Given the description of an element on the screen output the (x, y) to click on. 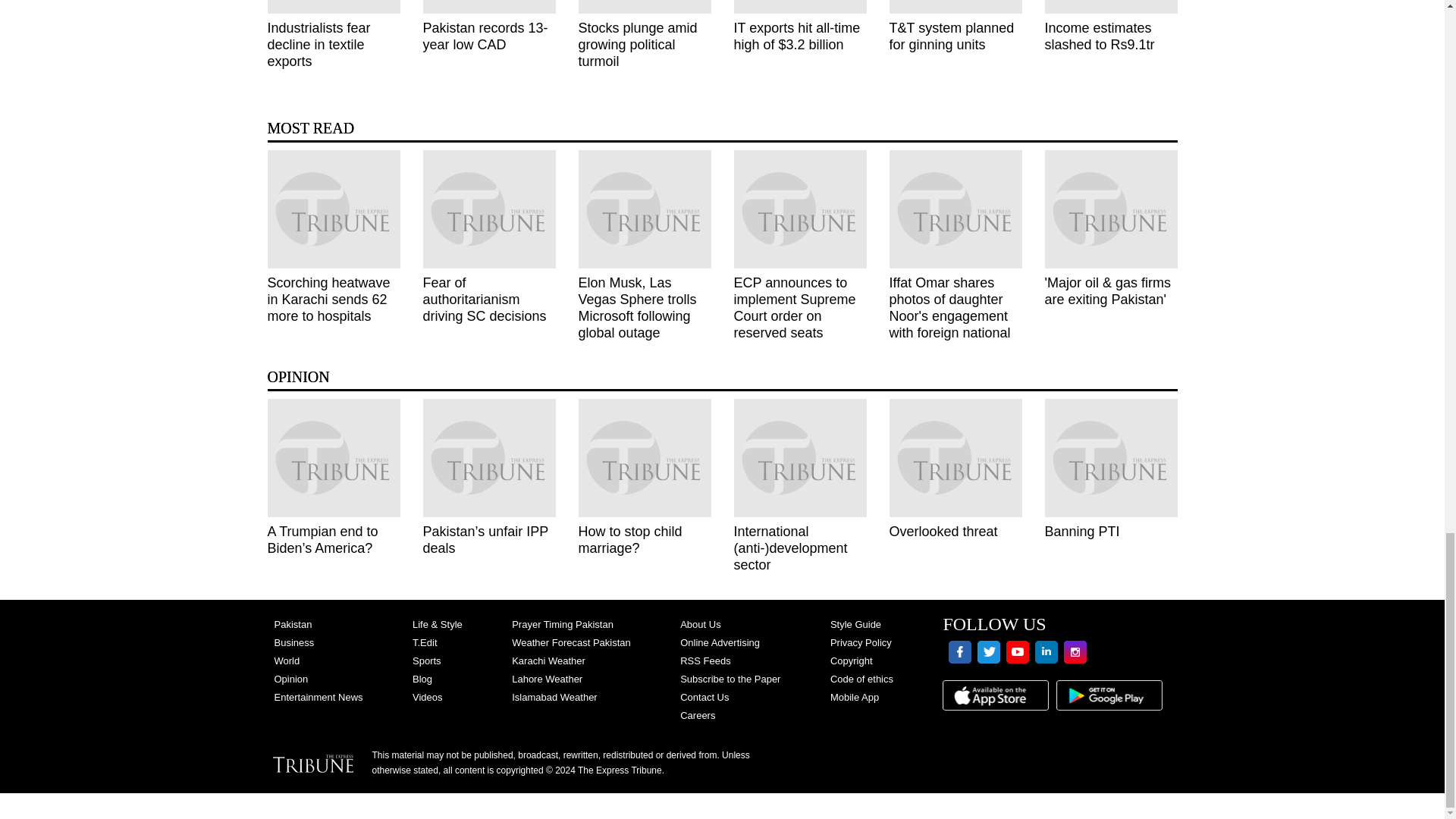
overlooked threat (955, 457)
it exports hit all time high of 3 2 billion (799, 6)
a trumpian end to biden s america (332, 457)
banning pti (1111, 457)
industrialists fear decline in textile exports (332, 6)
international anti  development sector (799, 457)
how to stop child marriage (644, 457)
t t system planned for ginning units (955, 6)
pakistan s unfair ipp deals (489, 457)
fear of authoritarianism driving sc decisions (489, 208)
pakistan records 13 year low cad (489, 6)
scorching heatwave in karachi sends 62 more to hospitals (332, 208)
